Given the description of an element on the screen output the (x, y) to click on. 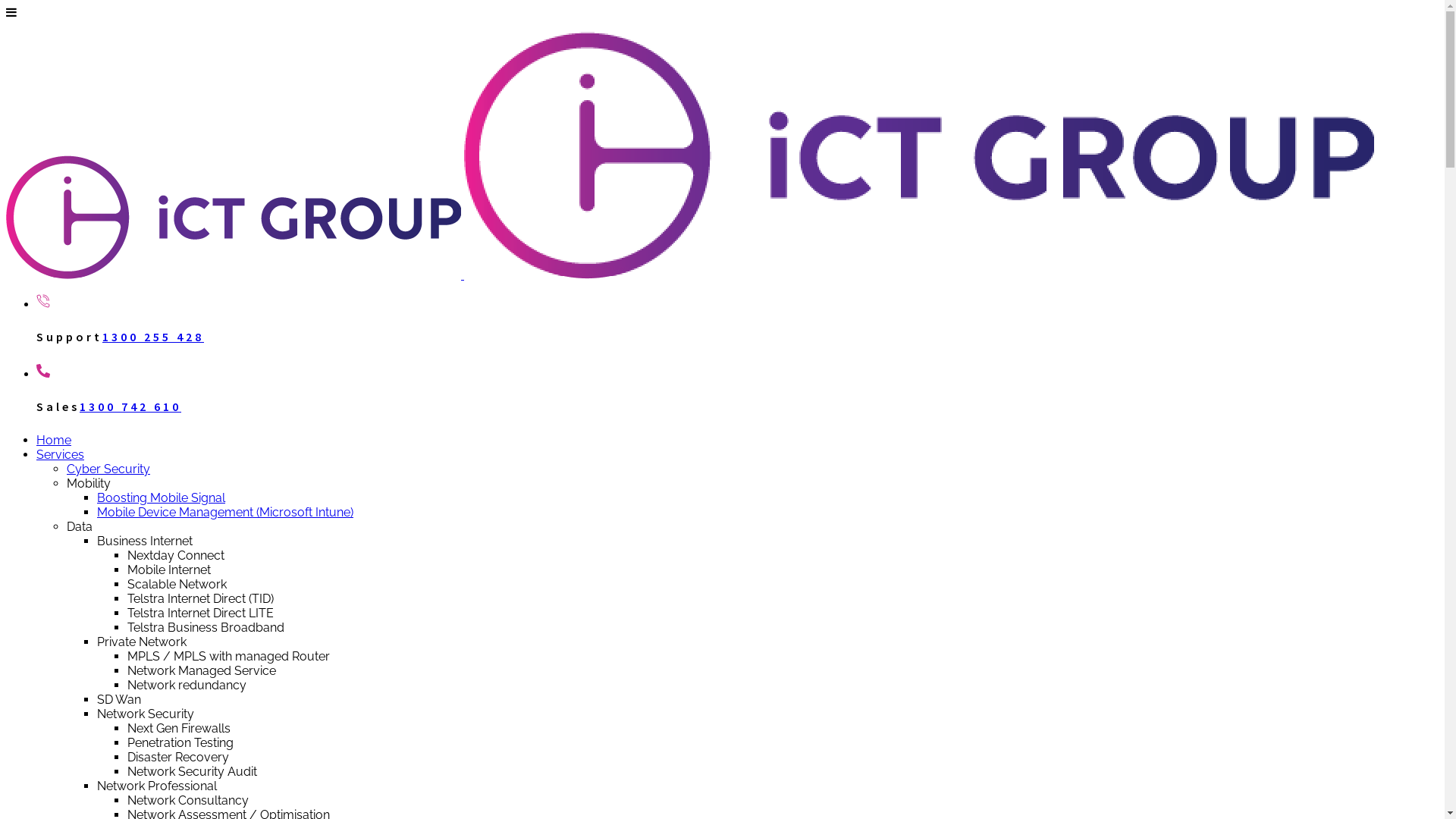
SD Wan Element type: text (119, 699)
Mobility Element type: text (88, 483)
Data Element type: text (79, 526)
1300 742 610 Element type: text (130, 406)
iCT Group Element type: hover (690, 274)
Network Professional Element type: text (156, 785)
Boosting Mobile Signal Element type: text (161, 497)
MPLS / MPLS with managed Router Element type: text (228, 656)
Network Managed Service Element type: text (201, 670)
Mobile Internet Element type: text (168, 569)
Next Gen Firewalls Element type: text (178, 728)
Services Element type: text (60, 454)
Network redundancy Element type: text (186, 684)
Scalable Network Element type: text (176, 584)
Network Security Audit Element type: text (192, 771)
1300 255 428 Element type: text (152, 336)
Network Security Element type: text (145, 713)
Home Element type: text (53, 440)
Telstra Business Broadband Element type: text (205, 627)
Penetration Testing Element type: text (180, 742)
Network Consultancy Element type: text (187, 800)
Mobile Device Management (Microsoft Intune) Element type: text (225, 512)
Telstra Internet Direct LITE Element type: text (200, 612)
Nextday Connect Element type: text (175, 555)
Telstra Internet Direct (TID) Element type: text (200, 598)
Disaster Recovery Element type: text (178, 756)
Cyber Security Element type: text (108, 468)
Business Internet Element type: text (144, 540)
Private Network Element type: text (141, 641)
